Given the description of an element on the screen output the (x, y) to click on. 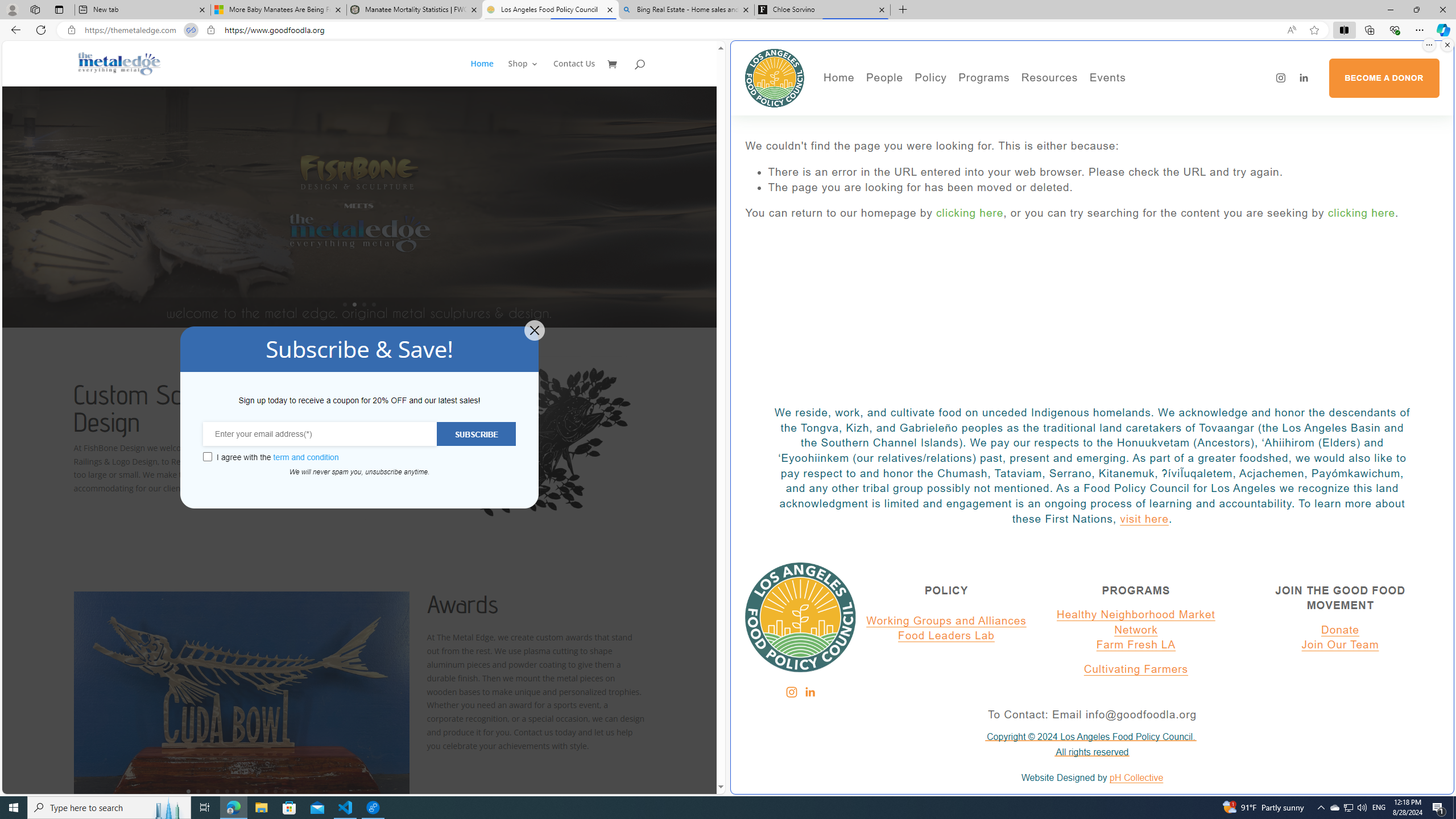
Class: wcb-gdpr-checkbox (207, 456)
Cultivating Farmers  (1135, 669)
Shop 3 (523, 72)
The page you are looking for has been moved or deleted. (1103, 187)
More options. (1428, 45)
LA Foodscapes (1146, 116)
Policy (930, 77)
Healthy Neighborhood Market Network (1135, 622)
BECOME A DONOR (1383, 77)
3 (207, 790)
Close split screen. (1447, 45)
Healthy Markets LA (1015, 99)
